Given the description of an element on the screen output the (x, y) to click on. 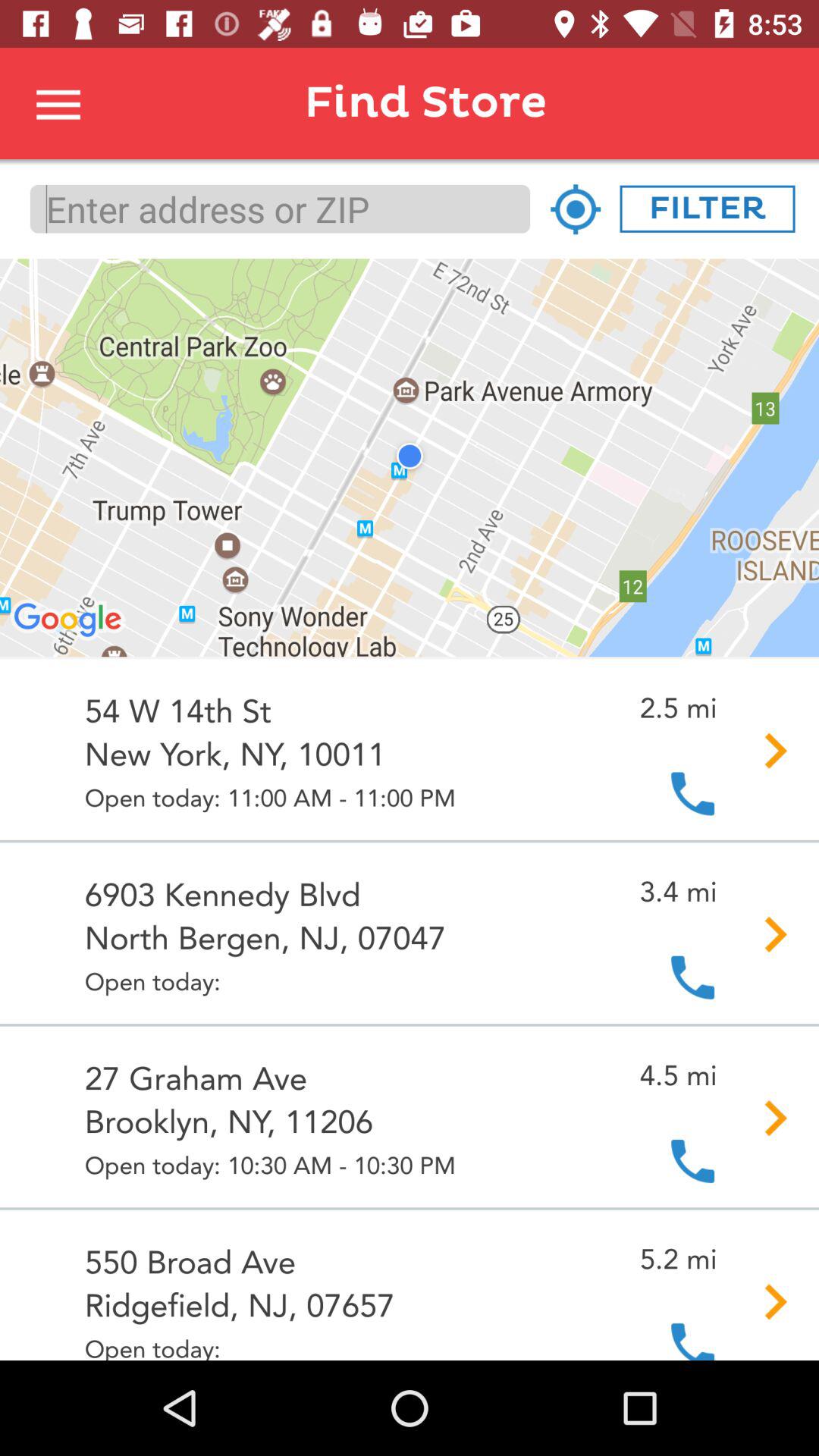
apps (59, 103)
